Given the description of an element on the screen output the (x, y) to click on. 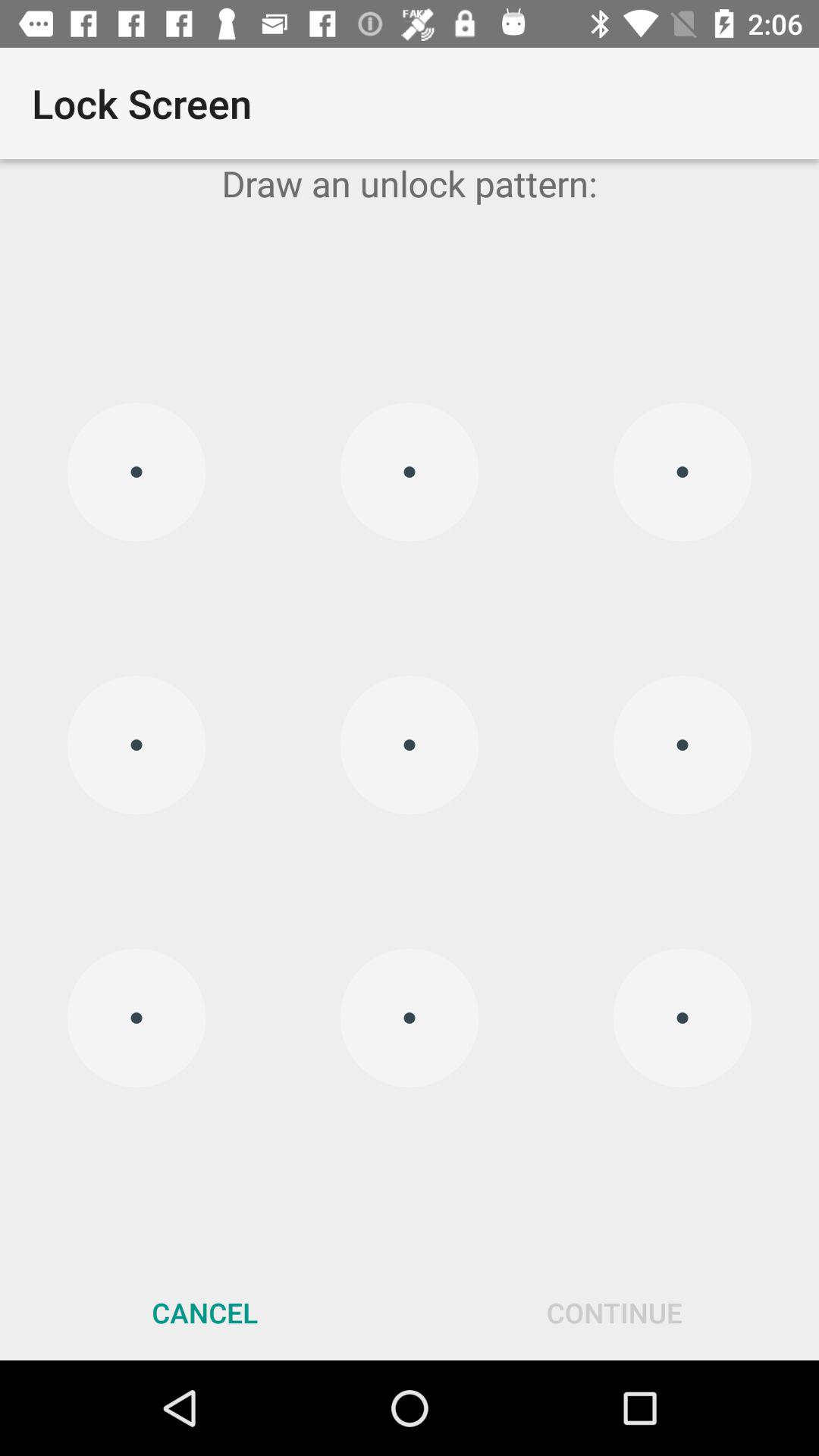
click the button next to continue (204, 1312)
